Given the description of an element on the screen output the (x, y) to click on. 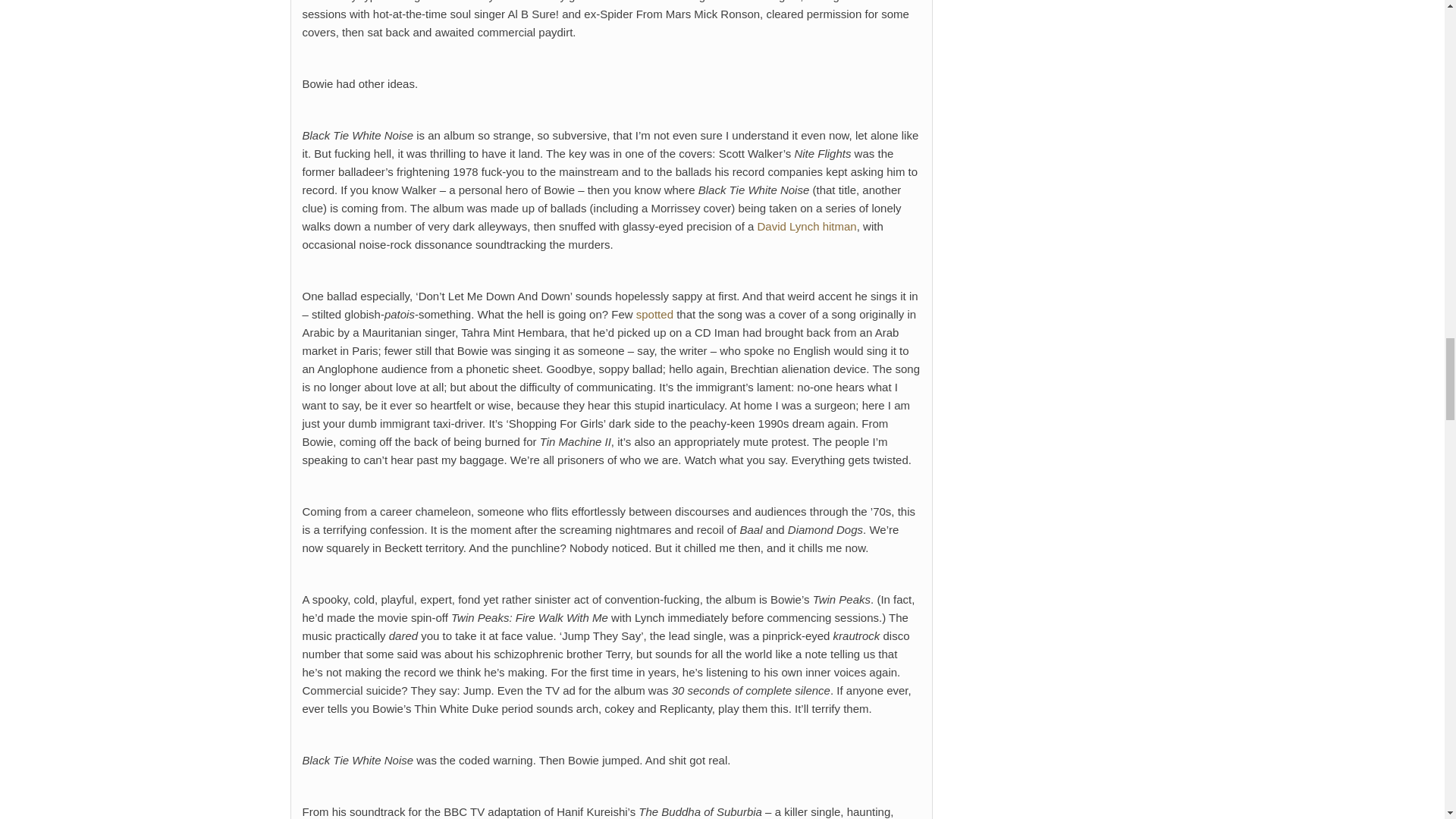
David Lynch hitman (807, 226)
spotted (654, 314)
